Given the description of an element on the screen output the (x, y) to click on. 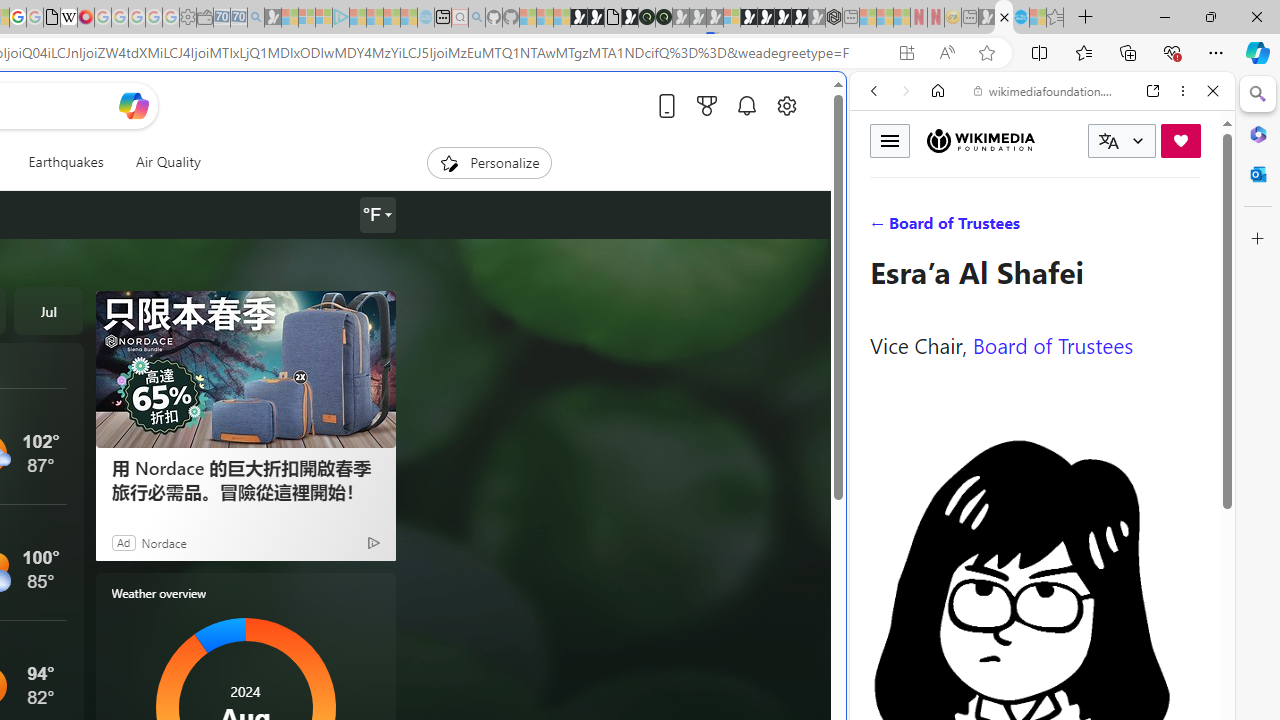
Home | Sky Blue Bikes - Sky Blue Bikes - Sleeping (425, 17)
SEARCH TOOLS (1093, 228)
Earthquakes (65, 162)
github - Search - Sleeping (476, 17)
Board of Trustees (1053, 344)
Web scope (882, 180)
Class: b_serphb (1190, 229)
Services - Maintenance | Sky Blue Bikes - Sky Blue Bikes (1020, 17)
Open settings (786, 105)
wikimediafoundation.org (1045, 90)
